Given the description of an element on the screen output the (x, y) to click on. 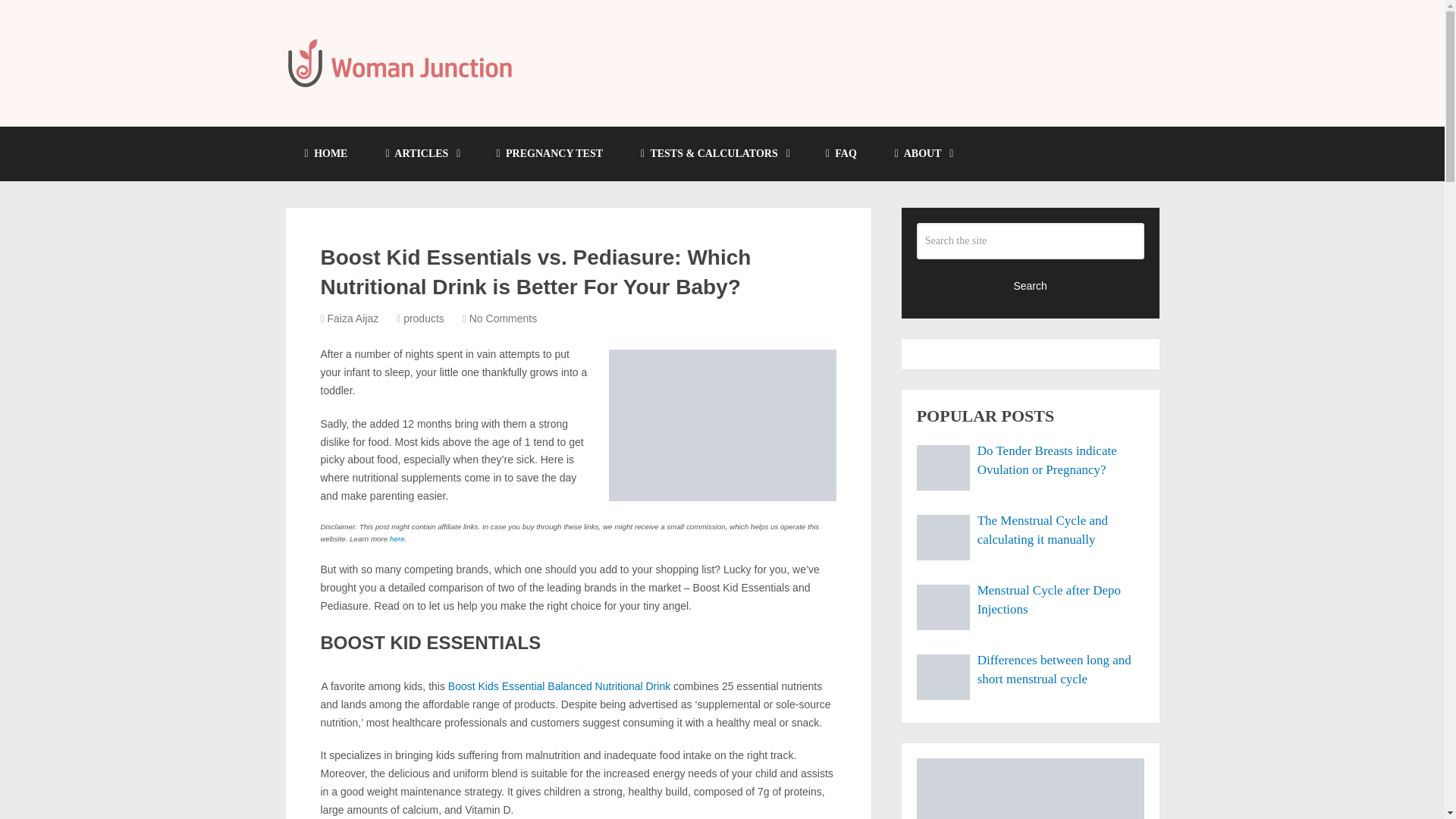
PREGNANCY TEST (549, 153)
ABOUT (923, 153)
here (397, 538)
Posts by Faiza Aijaz (352, 318)
products (423, 318)
FAQ (841, 153)
HOME (325, 153)
View all posts in products (423, 318)
Faiza Aijaz (352, 318)
No Comments (502, 318)
